Given the description of an element on the screen output the (x, y) to click on. 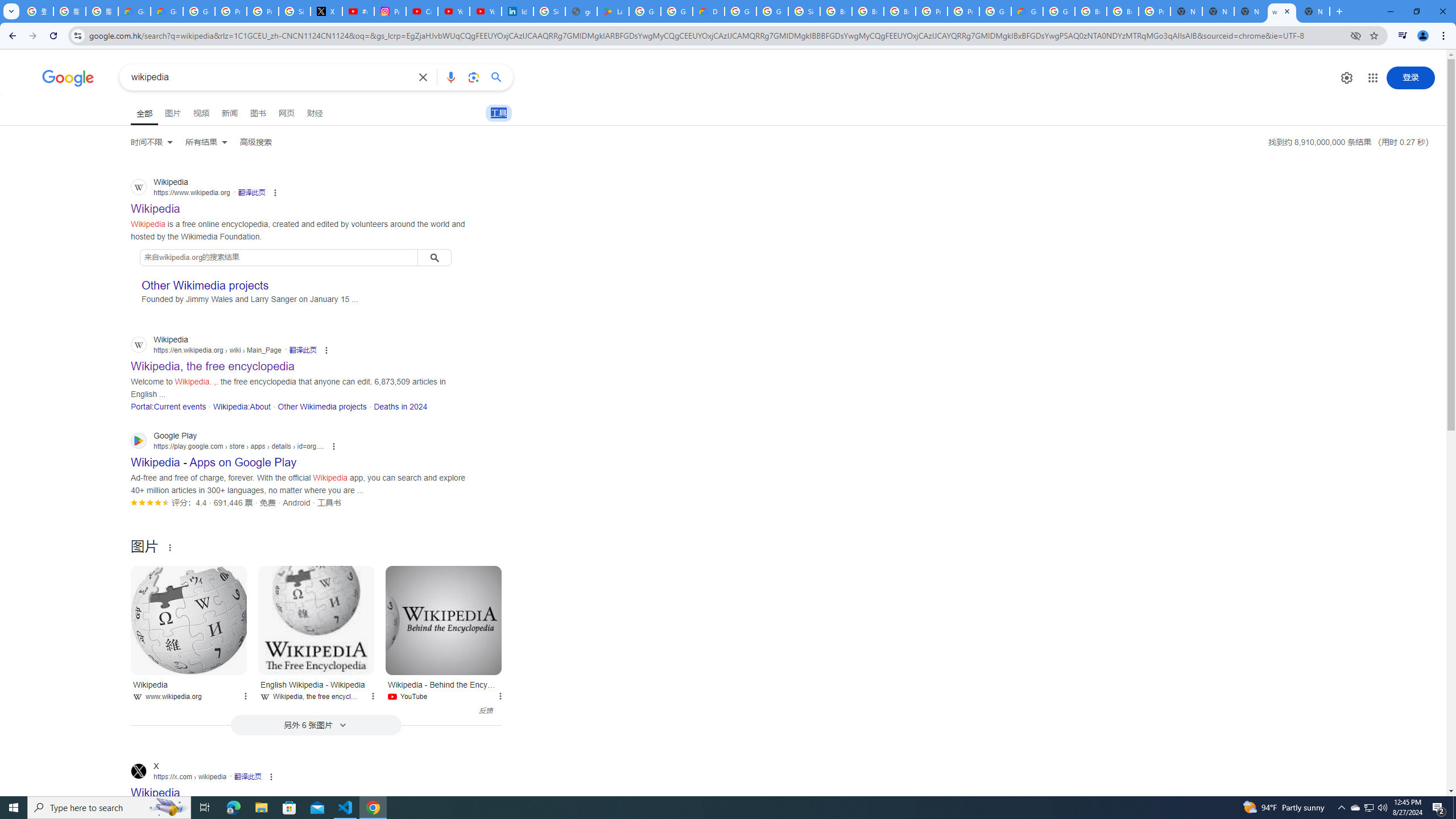
YouTube Culture & Trends - YouTube Top 10, 2021 (485, 11)
Google Cloud Platform (1059, 11)
New Tab (1185, 11)
Google (68, 78)
